Given the description of an element on the screen output the (x, y) to click on. 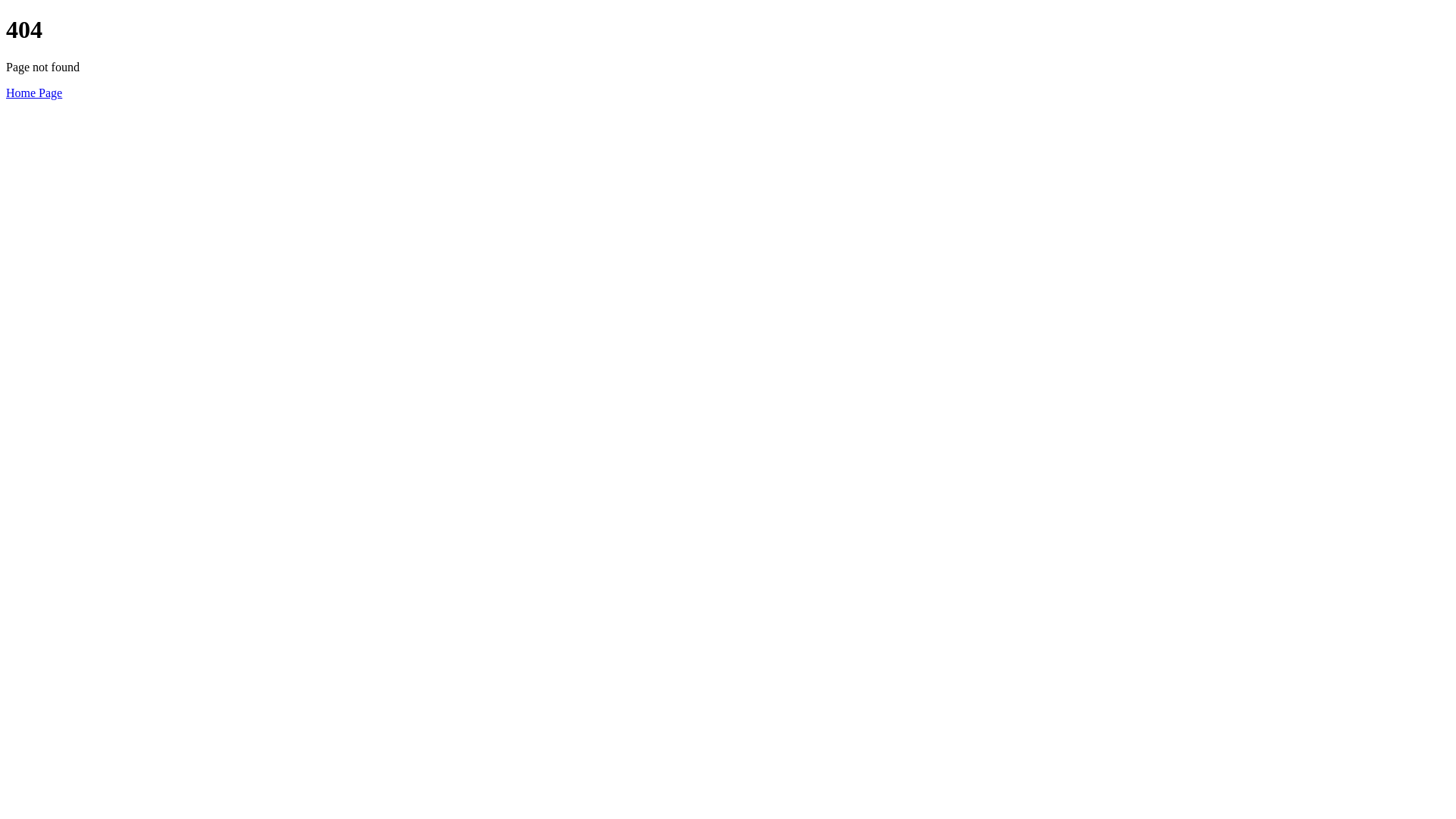
Home Page Element type: text (34, 92)
